Given the description of an element on the screen output the (x, y) to click on. 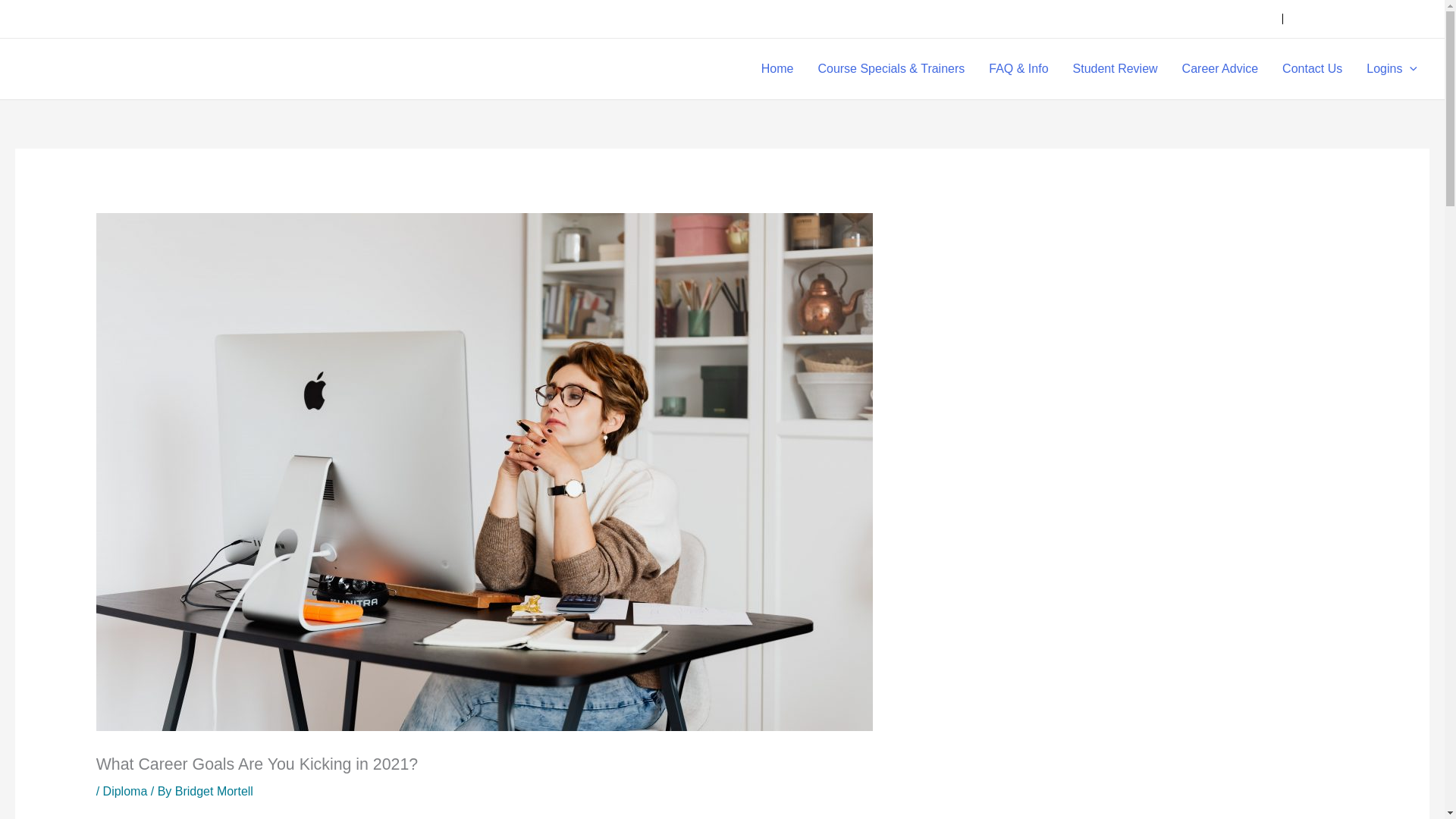
Home (777, 68)
Bridget Mortell (213, 790)
03-9013 6878 (1229, 18)
Contact Us (1311, 68)
Diploma (125, 790)
Logins (1391, 68)
View all posts by Bridget Mortell (213, 790)
Student Review (1115, 68)
Career Advice (1220, 68)
